Given the description of an element on the screen output the (x, y) to click on. 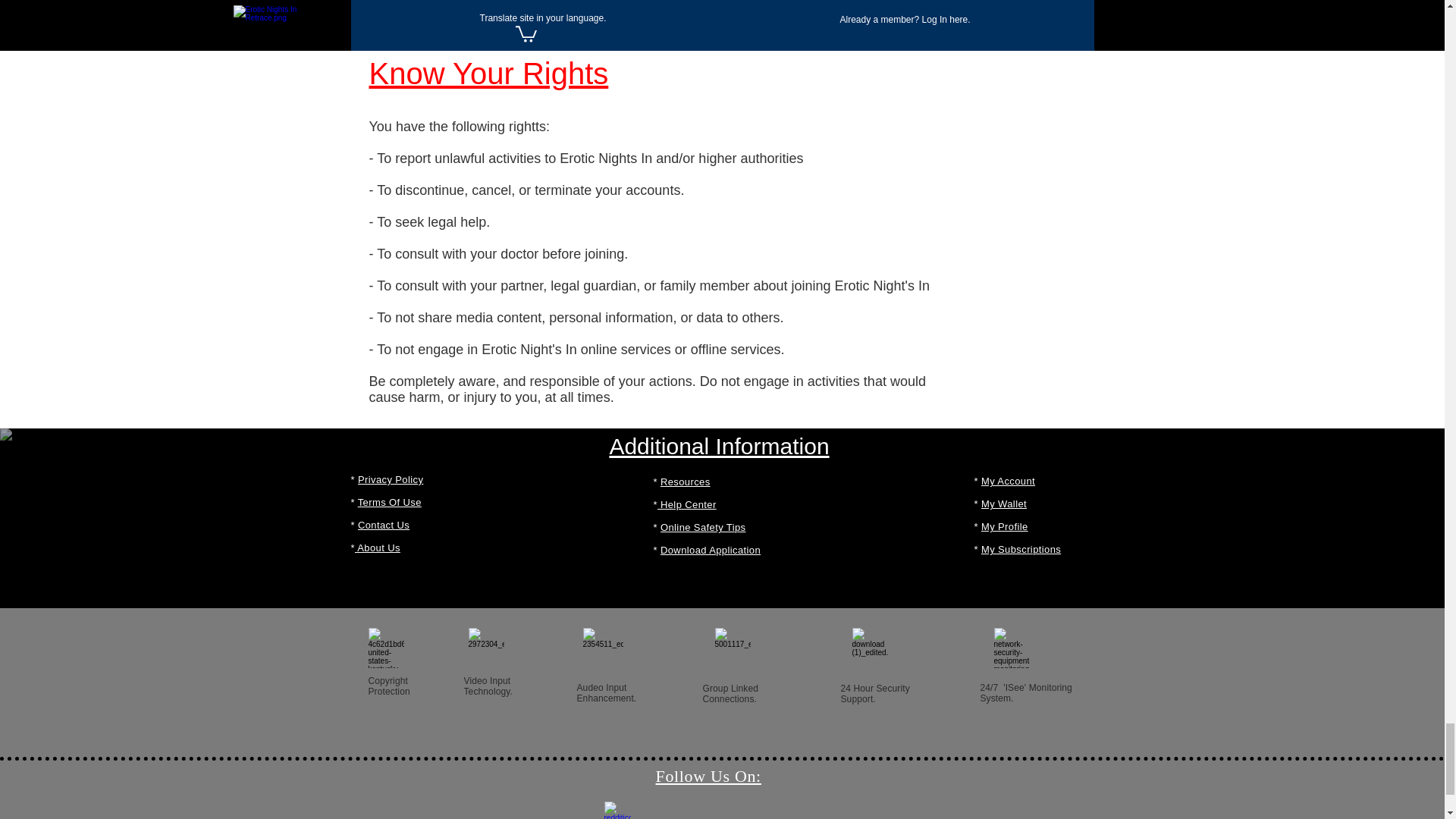
Contact Us (383, 524)
My Wallet (1003, 503)
Download Application (710, 550)
About Us (377, 547)
Terms Of Use (390, 501)
My Profile (1004, 526)
Online Safety Tips (703, 527)
My Account (1008, 480)
My Subscriptions (1021, 549)
Resources (685, 481)
